Given the description of an element on the screen output the (x, y) to click on. 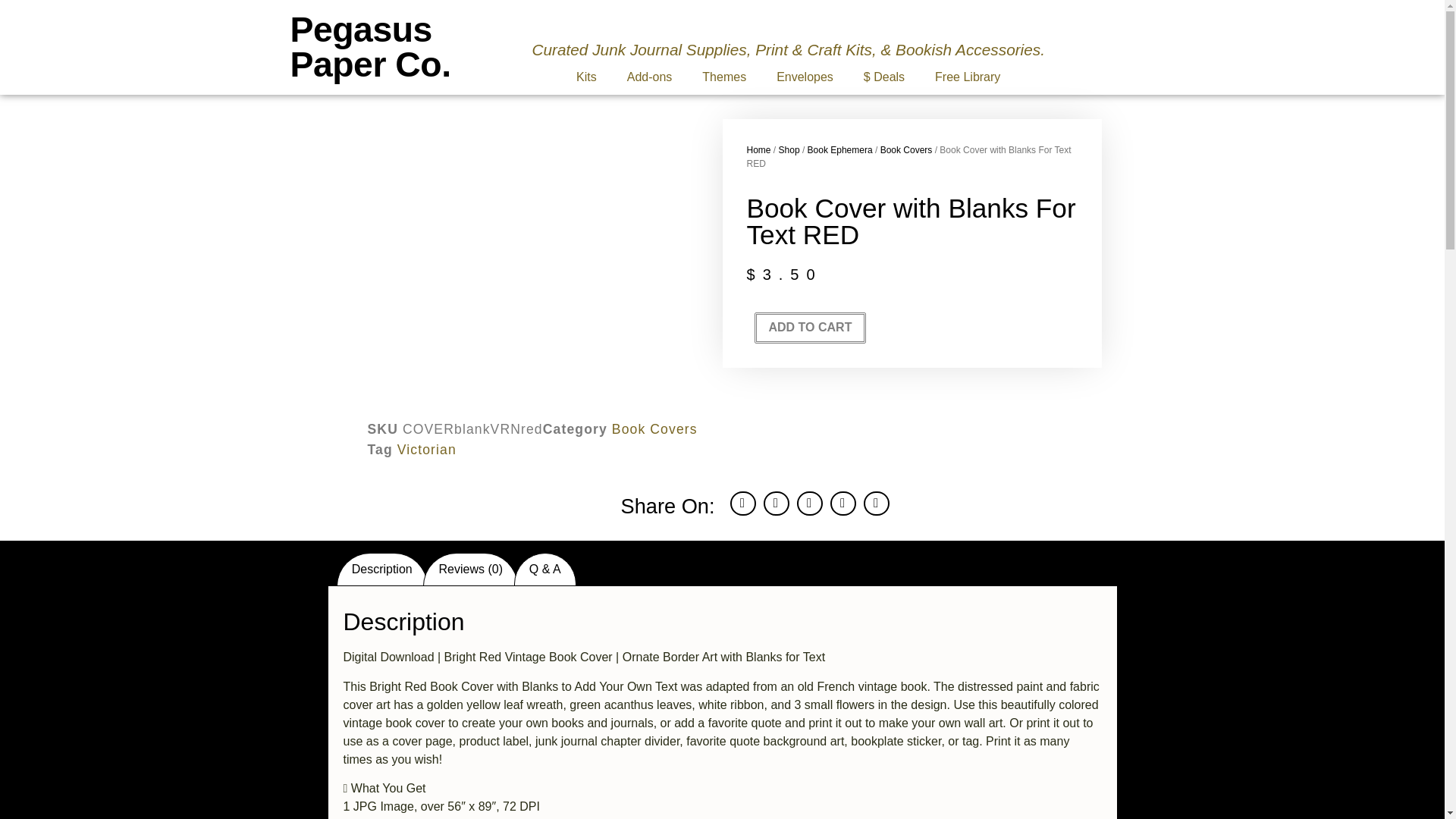
Book Ephemera (840, 149)
Shop (788, 149)
Book Covers (906, 149)
Themes (724, 77)
Victorian (427, 449)
Book Covers (654, 428)
ADD TO CART (810, 327)
Add-ons (649, 77)
Envelopes (804, 77)
Home (757, 149)
